Given the description of an element on the screen output the (x, y) to click on. 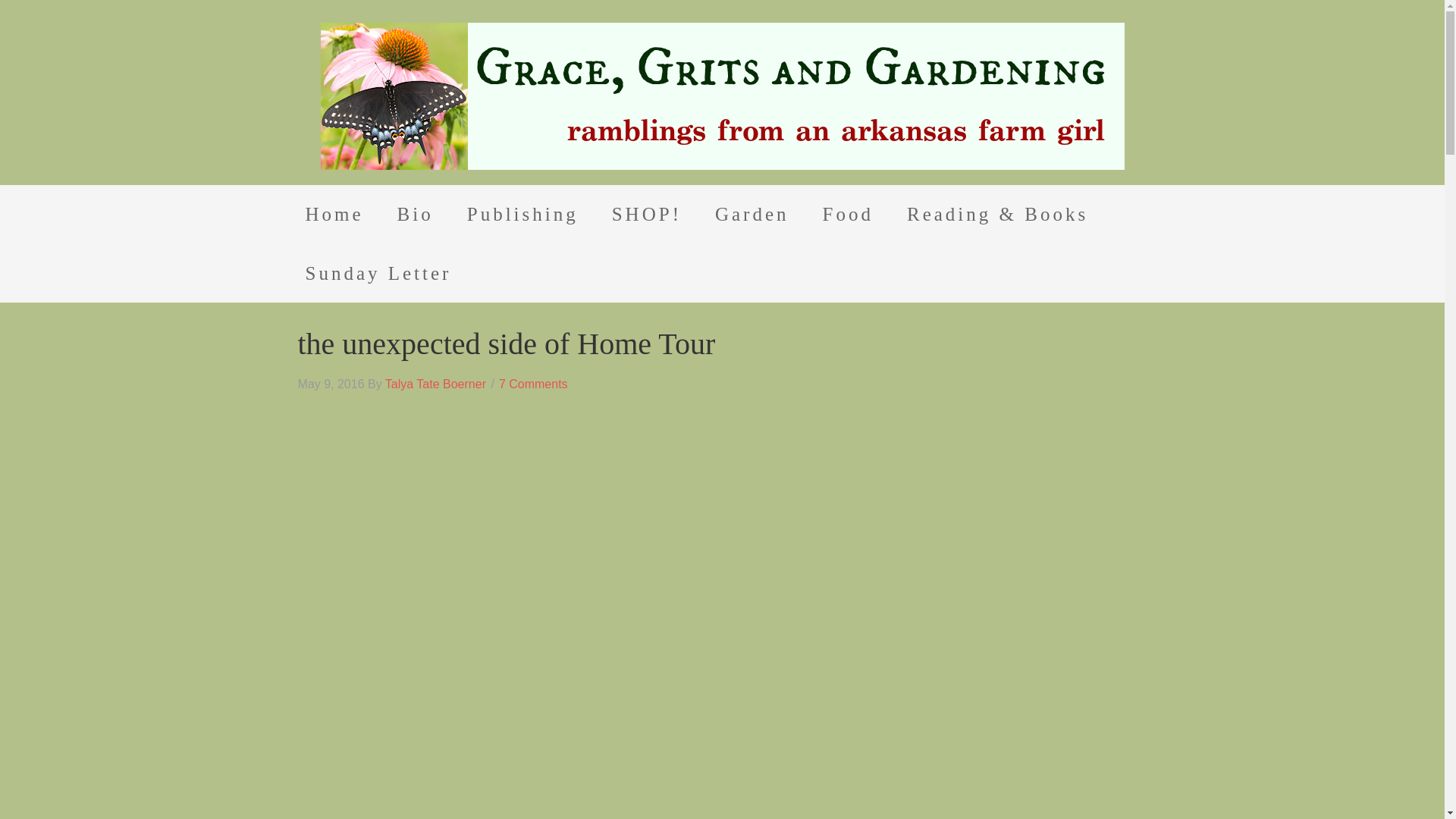
Garden (752, 214)
Home (333, 214)
Bio (414, 214)
7 Comments (533, 383)
Sunday Letter (377, 273)
SHOP! (646, 214)
the unexpected side of Home Tour (505, 343)
Talya Tate Boerner (435, 383)
grace grits and gardening (721, 95)
Publishing (522, 214)
